Given the description of an element on the screen output the (x, y) to click on. 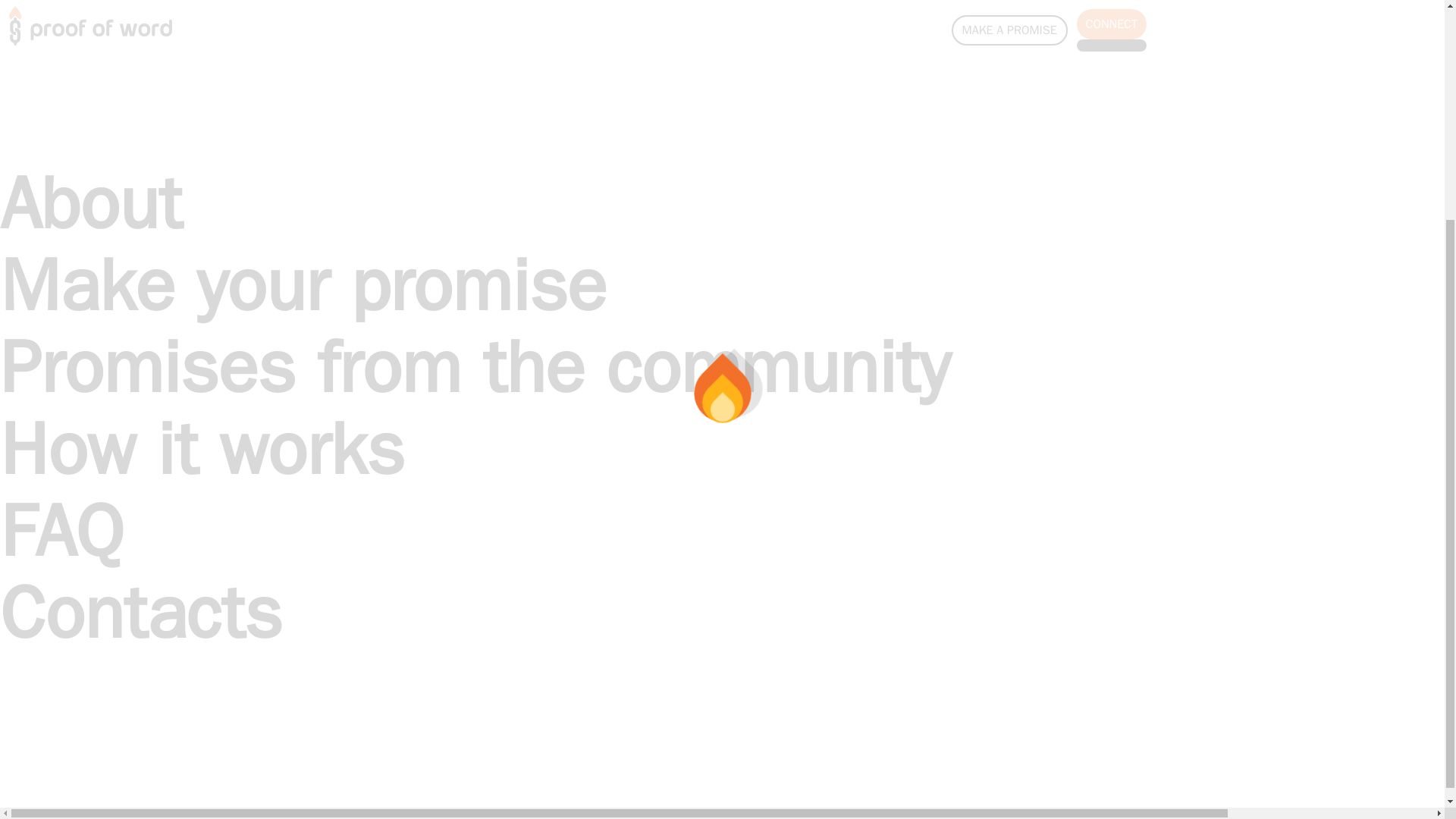
Privacy policy (34, 752)
Make your promise (50, 661)
Unproductive Solutions (343, 624)
Frequently Asked Questions (73, 715)
Can I delete my promise? (67, 274)
Contacts (141, 317)
Cookies policy (37, 770)
Contacts (23, 734)
FAQ (61, 235)
What do I need to create a promise? (96, 238)
